Given the description of an element on the screen output the (x, y) to click on. 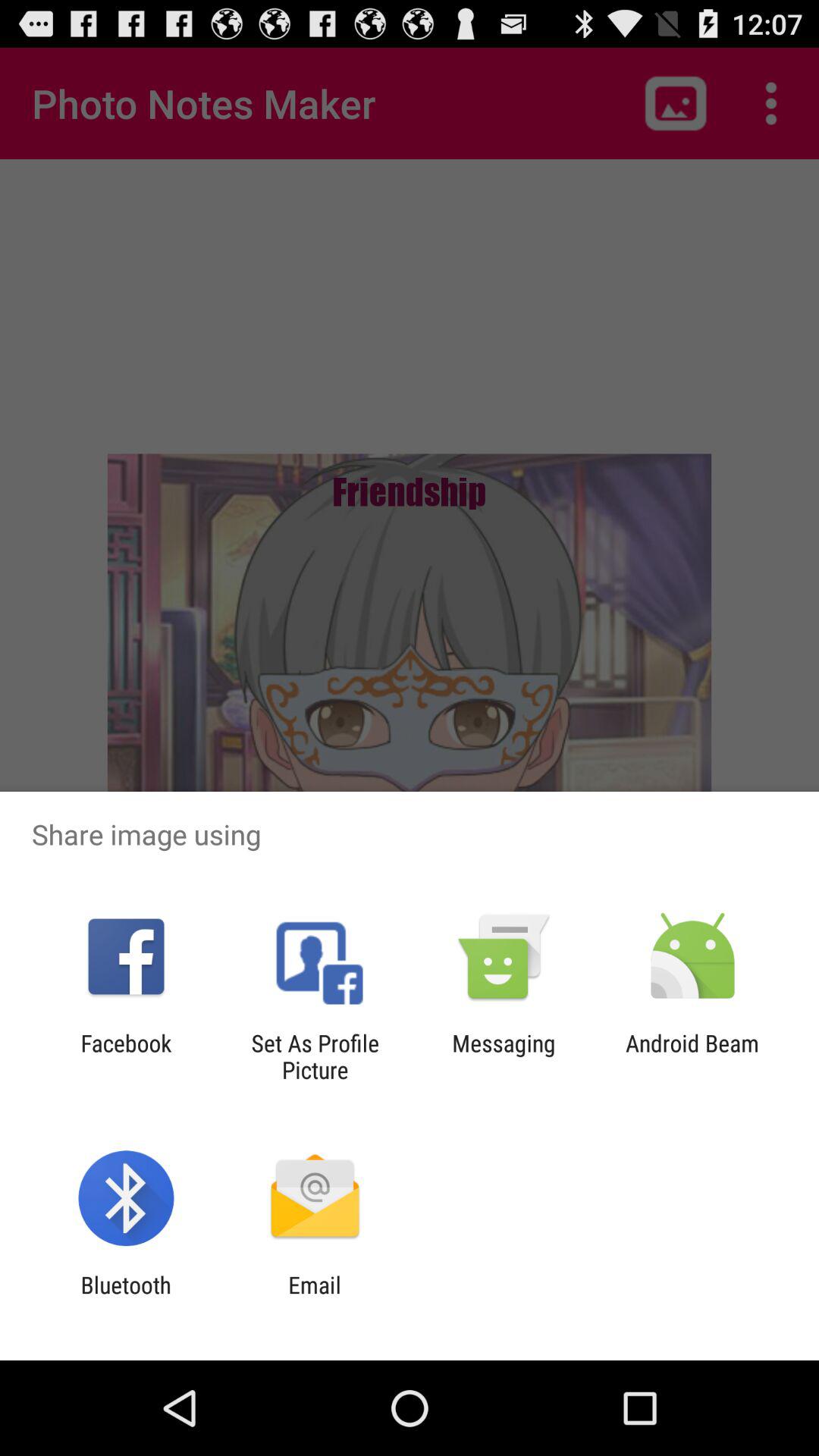
tap the item next to the android beam item (503, 1056)
